Given the description of an element on the screen output the (x, y) to click on. 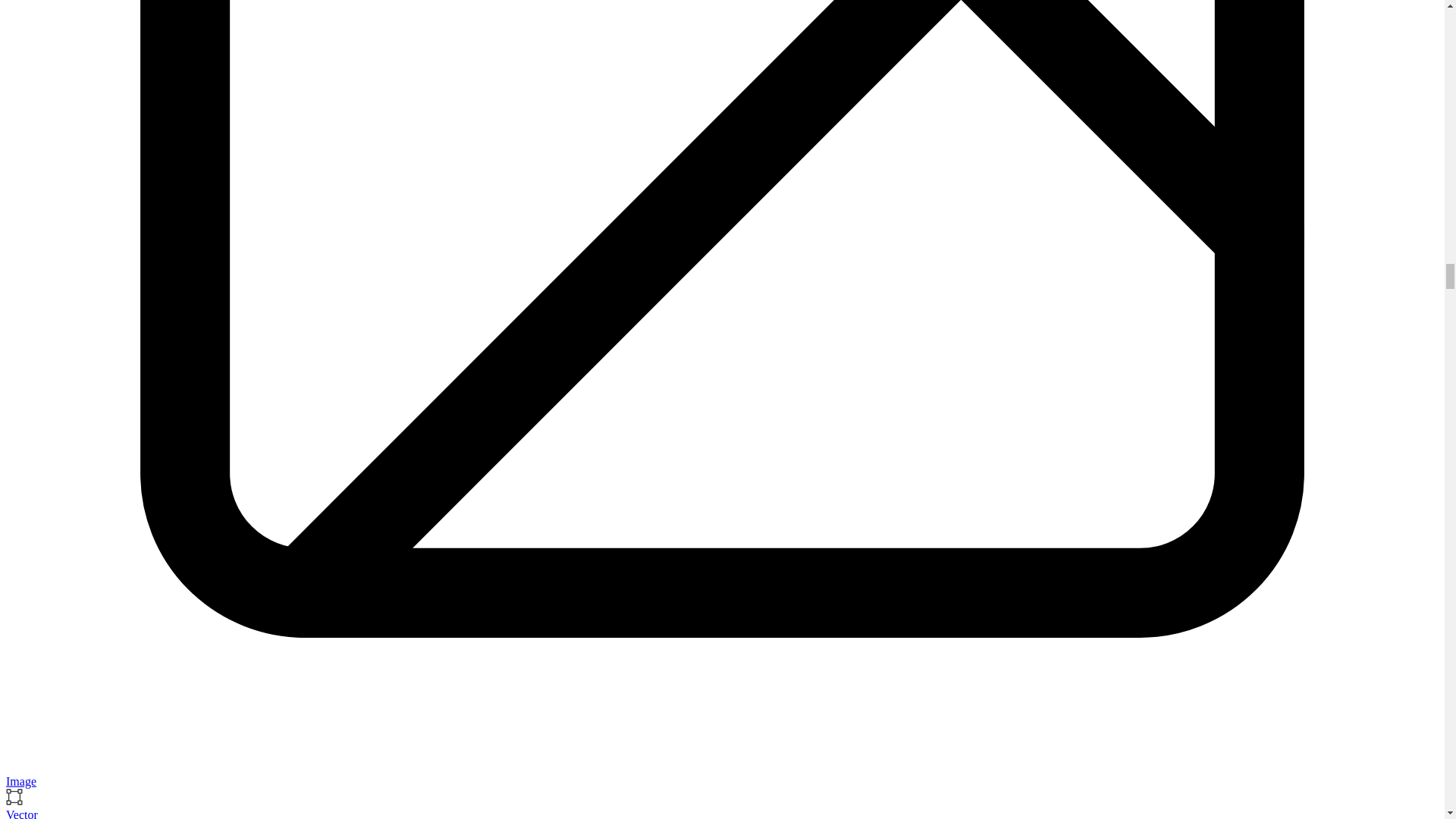
Image (20, 780)
Vector (21, 813)
